Given the description of an element on the screen output the (x, y) to click on. 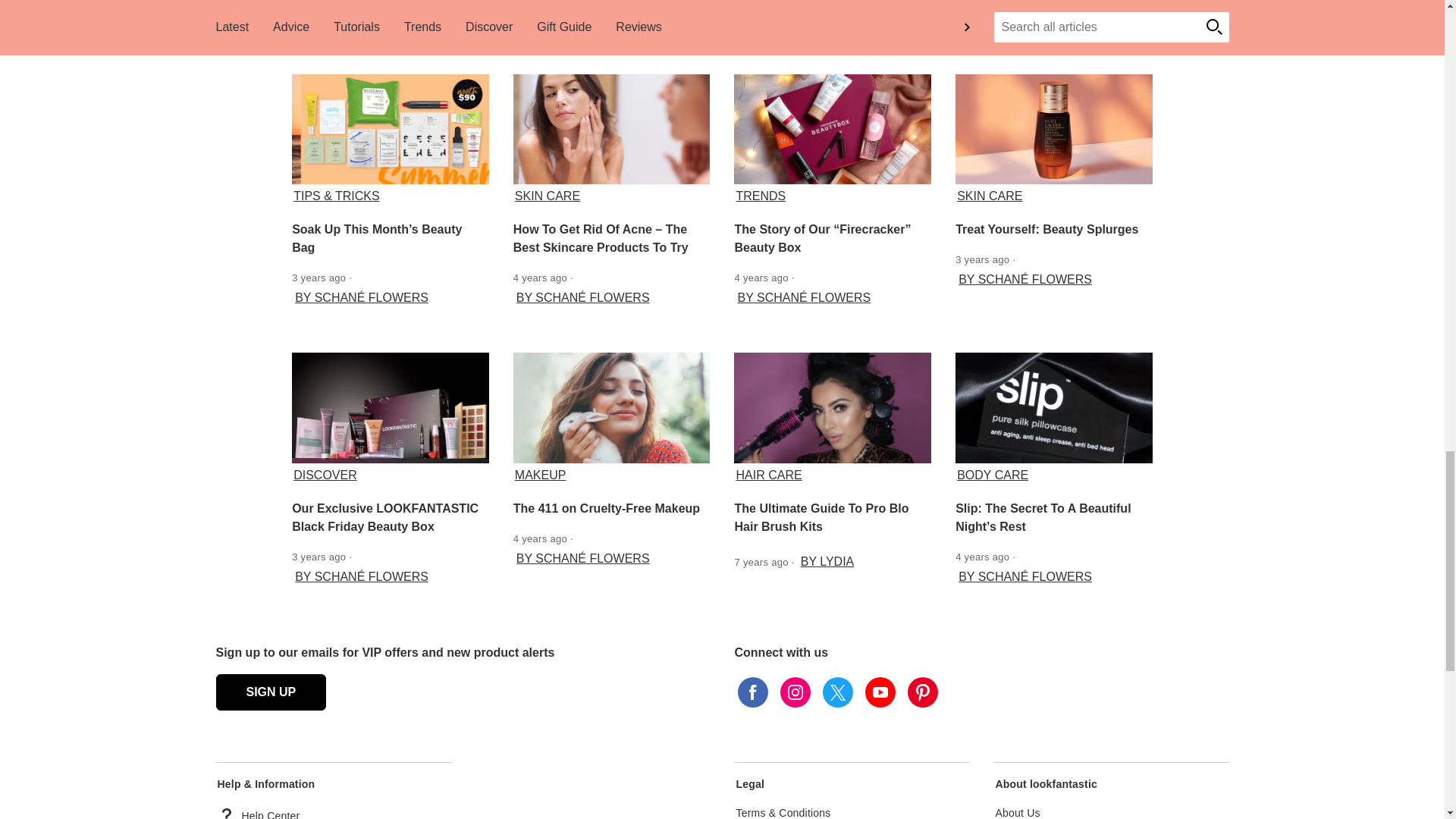
youtube (879, 692)
instagram (794, 692)
twitter (837, 692)
facebook (751, 692)
